Given the description of an element on the screen output the (x, y) to click on. 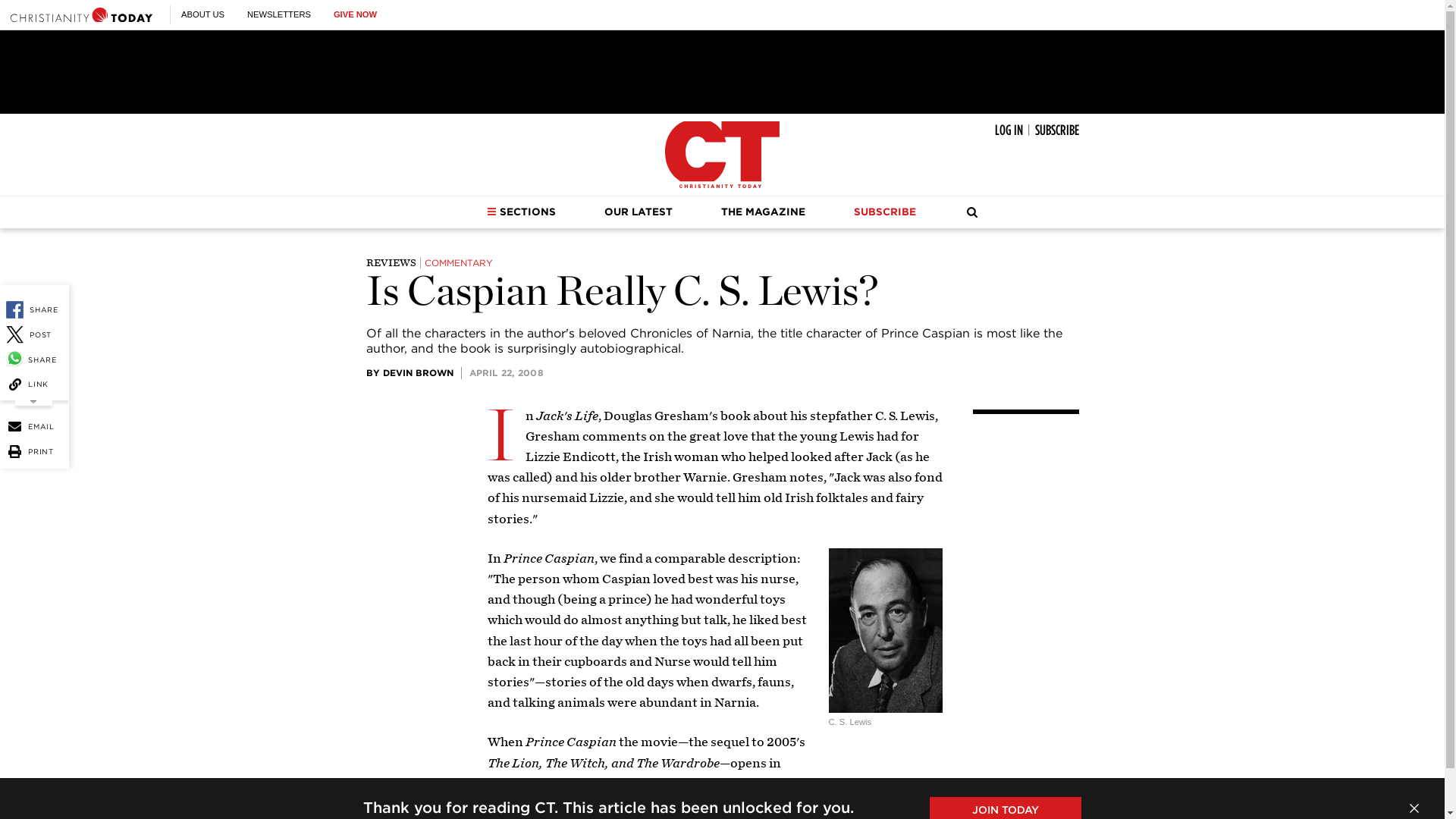
NEWSLETTERS (278, 14)
LOG IN (1008, 130)
3rd party ad content (721, 71)
Christianity Today (721, 154)
GIVE NOW (355, 14)
ABOUT US (202, 14)
Sections Dropdown (491, 211)
SECTIONS (521, 212)
Christianity Today (81, 14)
SUBSCRIBE (1055, 130)
